Given the description of an element on the screen output the (x, y) to click on. 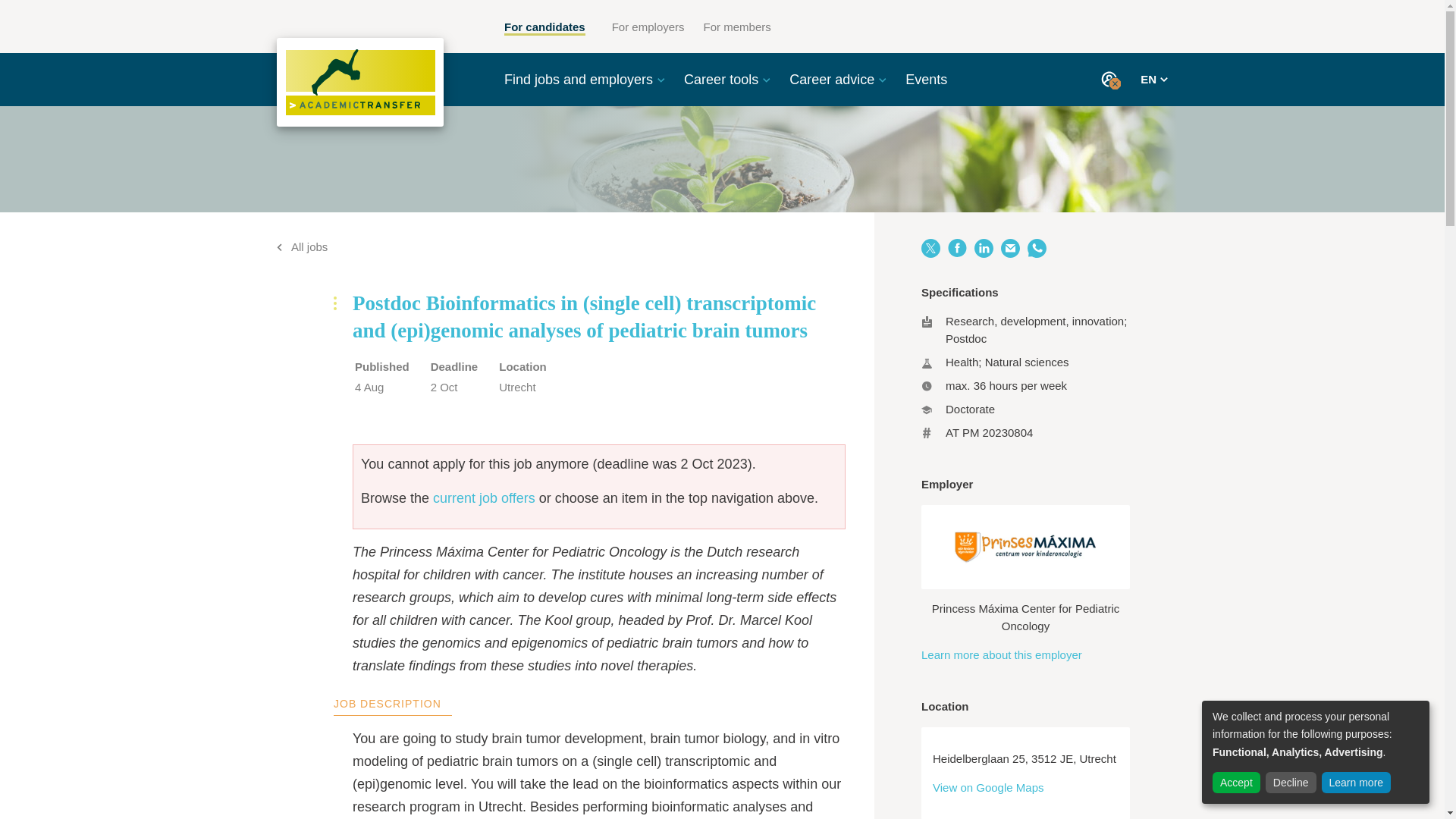
Events (926, 79)
EN (1153, 79)
For members (737, 26)
For candidates (544, 28)
current job offers (483, 498)
For employers (647, 26)
All jobs (301, 246)
